Given the description of an element on the screen output the (x, y) to click on. 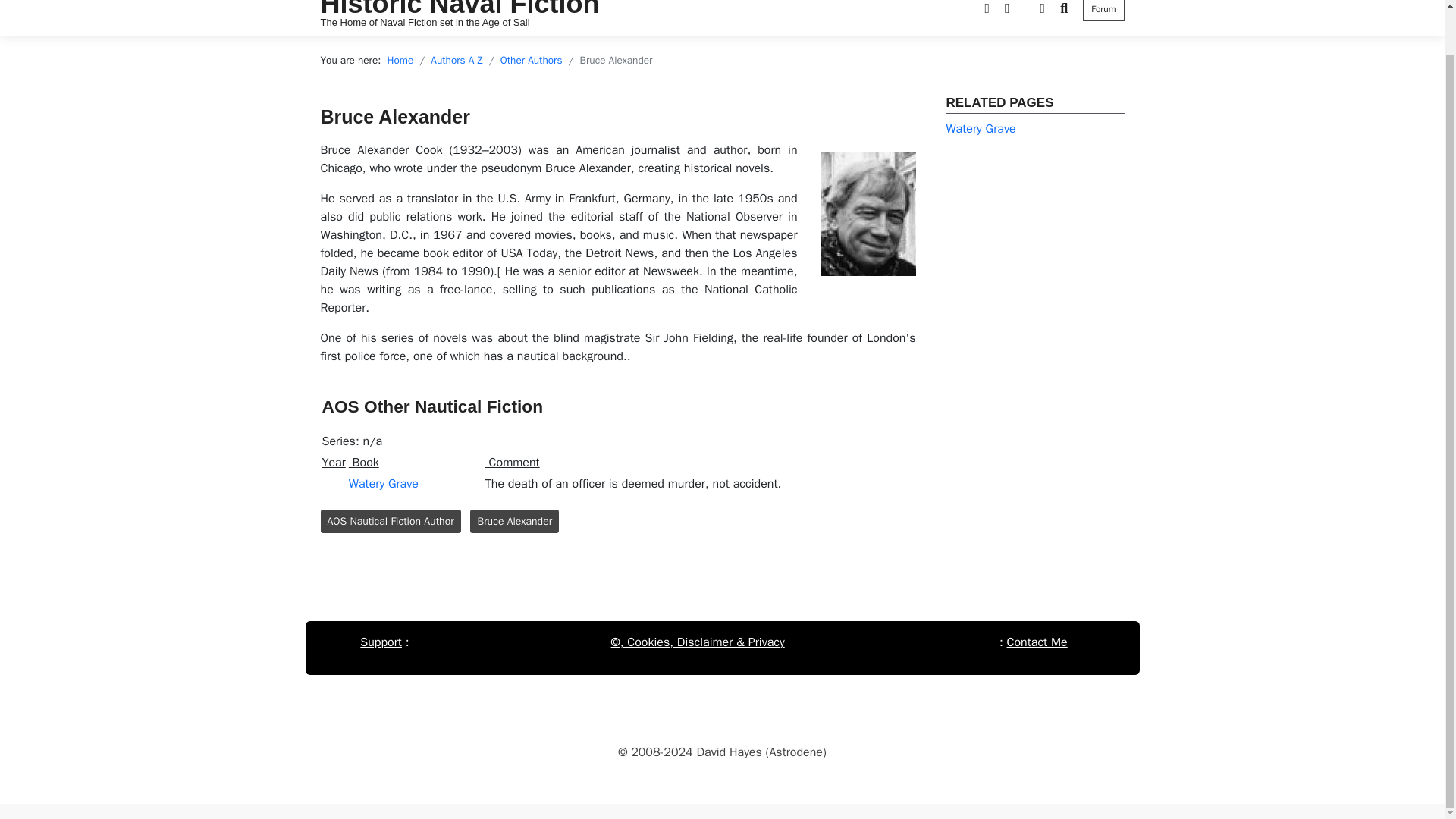
Historic Naval Fiction (459, 9)
